Given the description of an element on the screen output the (x, y) to click on. 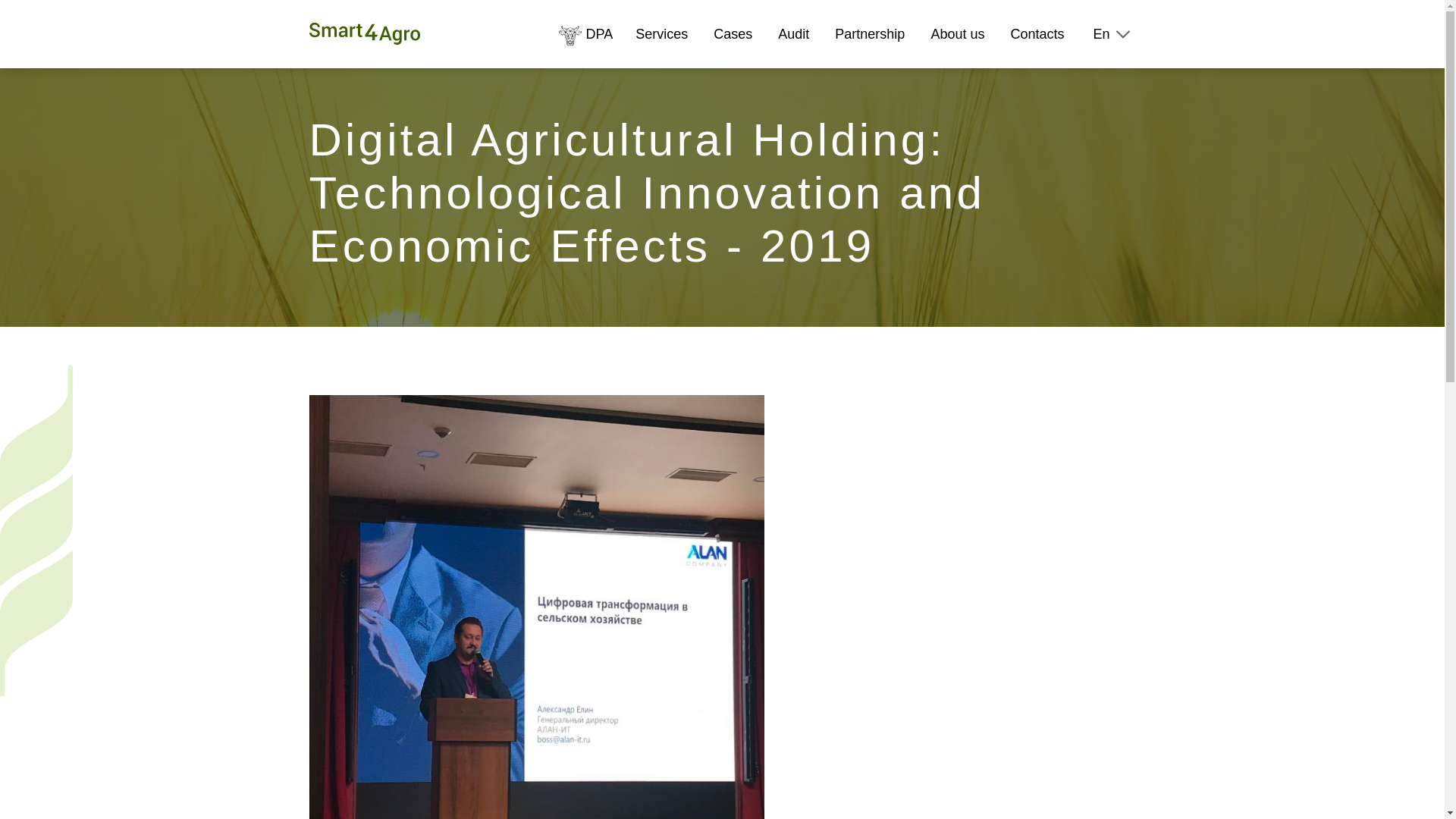
About us (957, 34)
Partnership (869, 34)
Contacts (1037, 34)
DPA (585, 34)
Cases (732, 34)
Ru (1112, 53)
Services (660, 34)
Audit (793, 34)
Contacts (1037, 34)
